Given the description of an element on the screen output the (x, y) to click on. 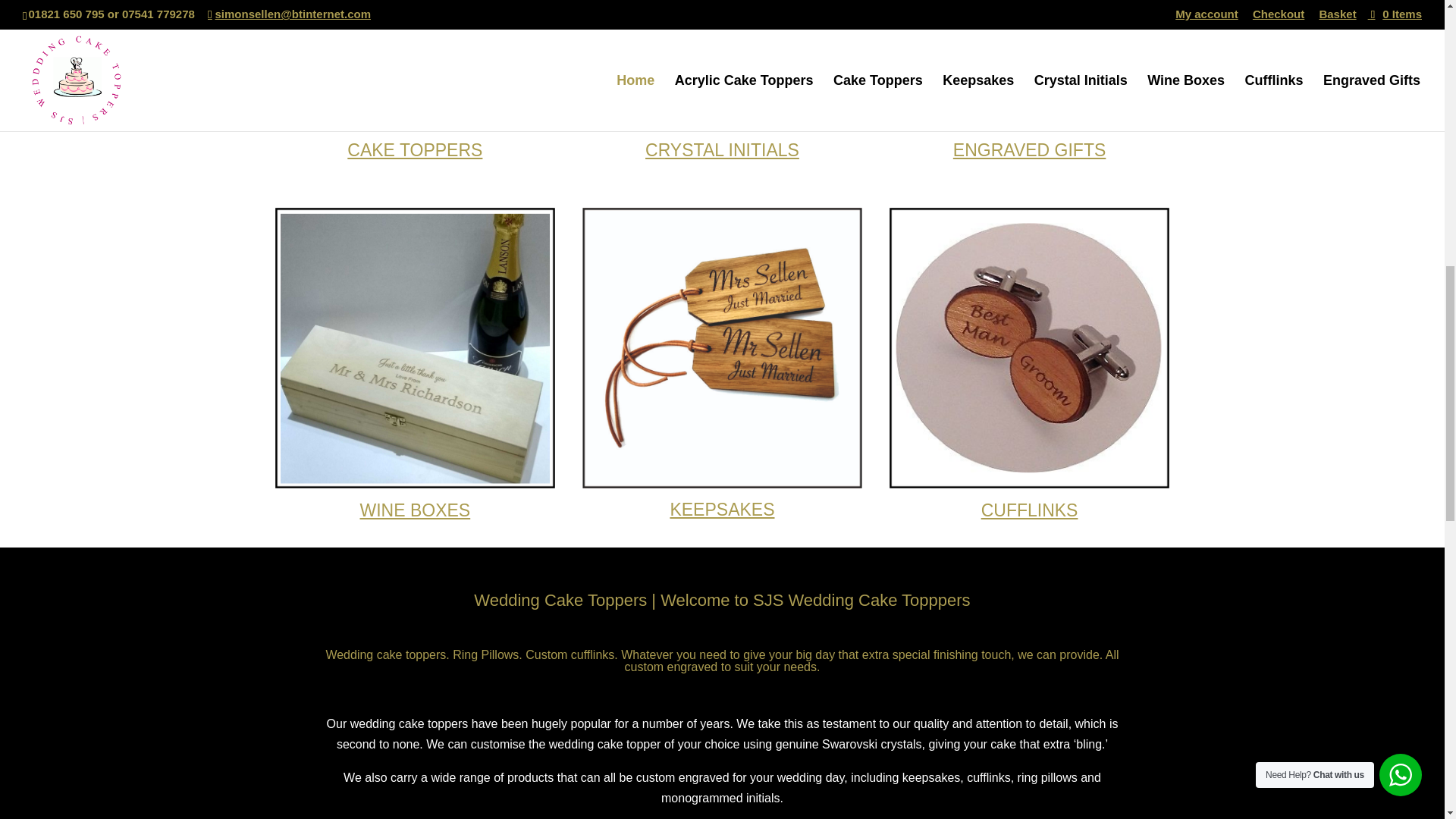
CRYSTAL INITIALS (722, 149)
ENGRAVED GIFTS (1029, 149)
KEEPSAKES (721, 509)
WINE BOXES (414, 510)
CUFFLINKS (1029, 510)
CAKE TOPPERS (414, 149)
